Given the description of an element on the screen output the (x, y) to click on. 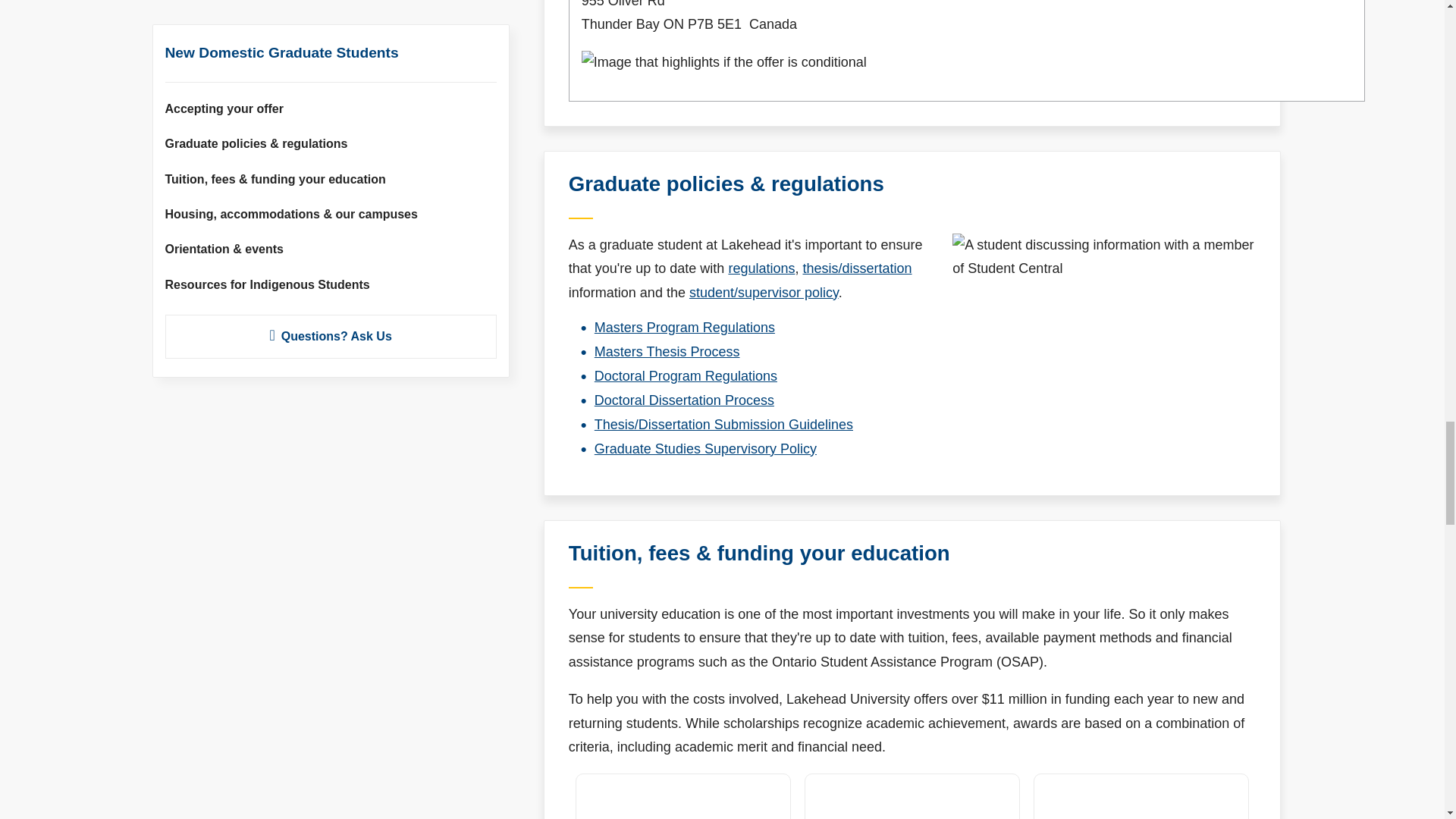
To details as posted in the University Calendar (685, 376)
To details as posted in the University Calendar (684, 327)
